Given the description of an element on the screen output the (x, y) to click on. 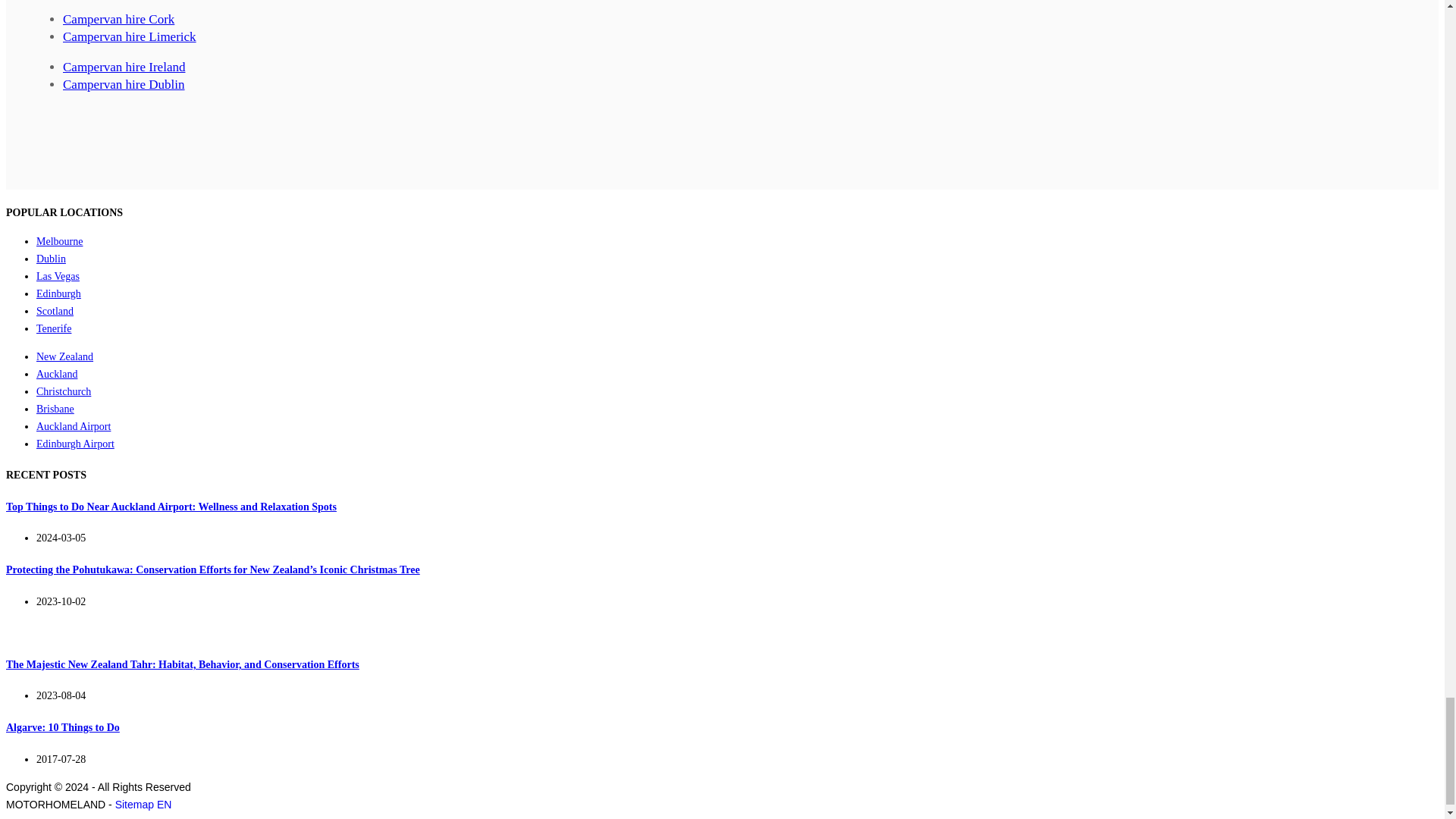
Scotland (55, 310)
Christchurch (63, 391)
Campervan hire Dublin (123, 83)
Edinburgh (58, 293)
Campervan hire Cork (118, 19)
Las Vegas (58, 276)
Campervan hire Ireland (123, 66)
Melbourne (59, 241)
New Zealand (64, 356)
Dublin (50, 258)
Brisbane (55, 408)
Auckland (56, 374)
Tenerife (53, 328)
Edinburgh Airport (75, 443)
Campervan hire Limerick (129, 36)
